Given the description of an element on the screen output the (x, y) to click on. 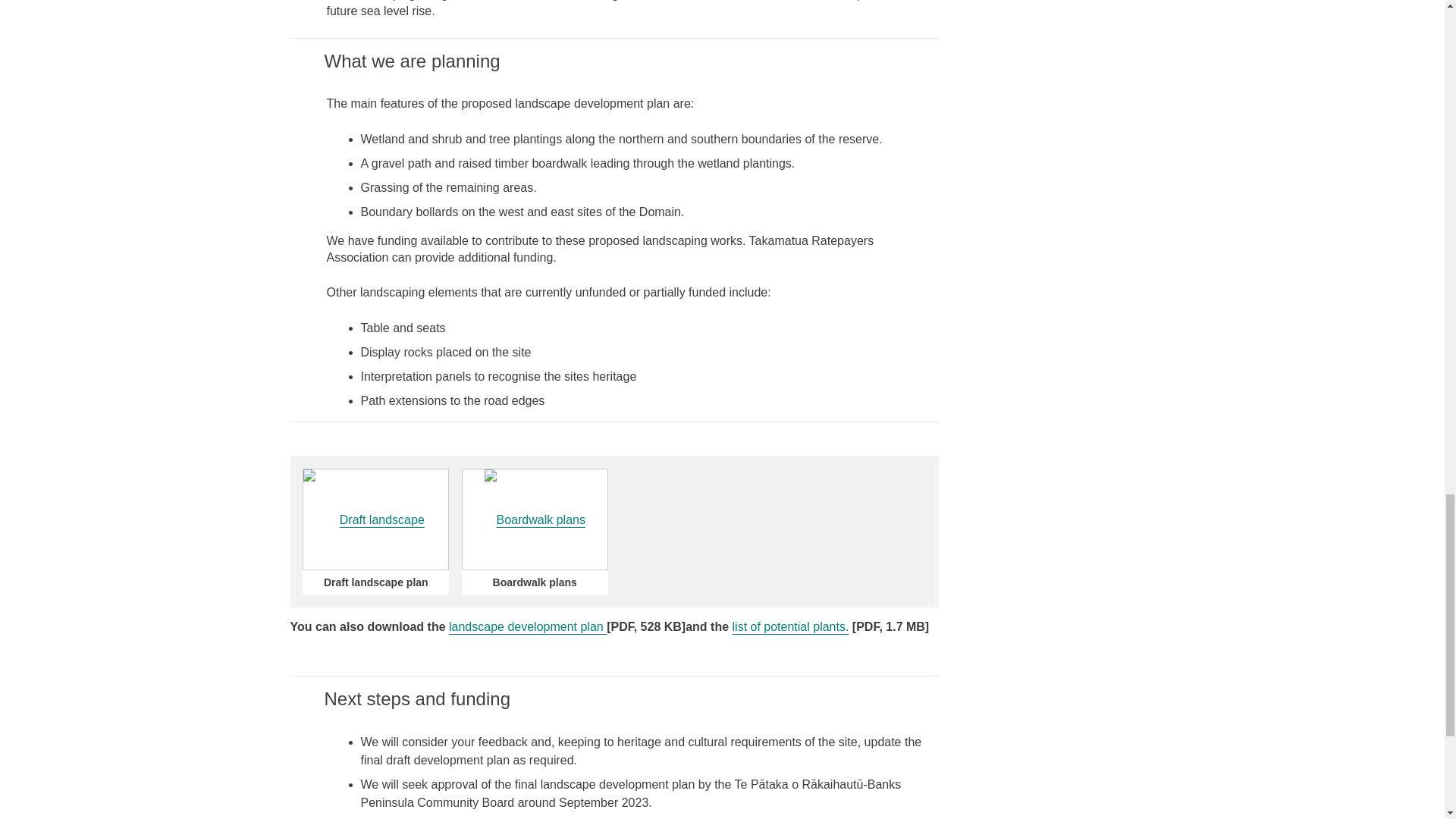
list of potential plants. (790, 626)
landscape development plan (527, 626)
List of potential plants (790, 626)
Takamatua Domain draft landscape development plan (527, 626)
